Given the description of an element on the screen output the (x, y) to click on. 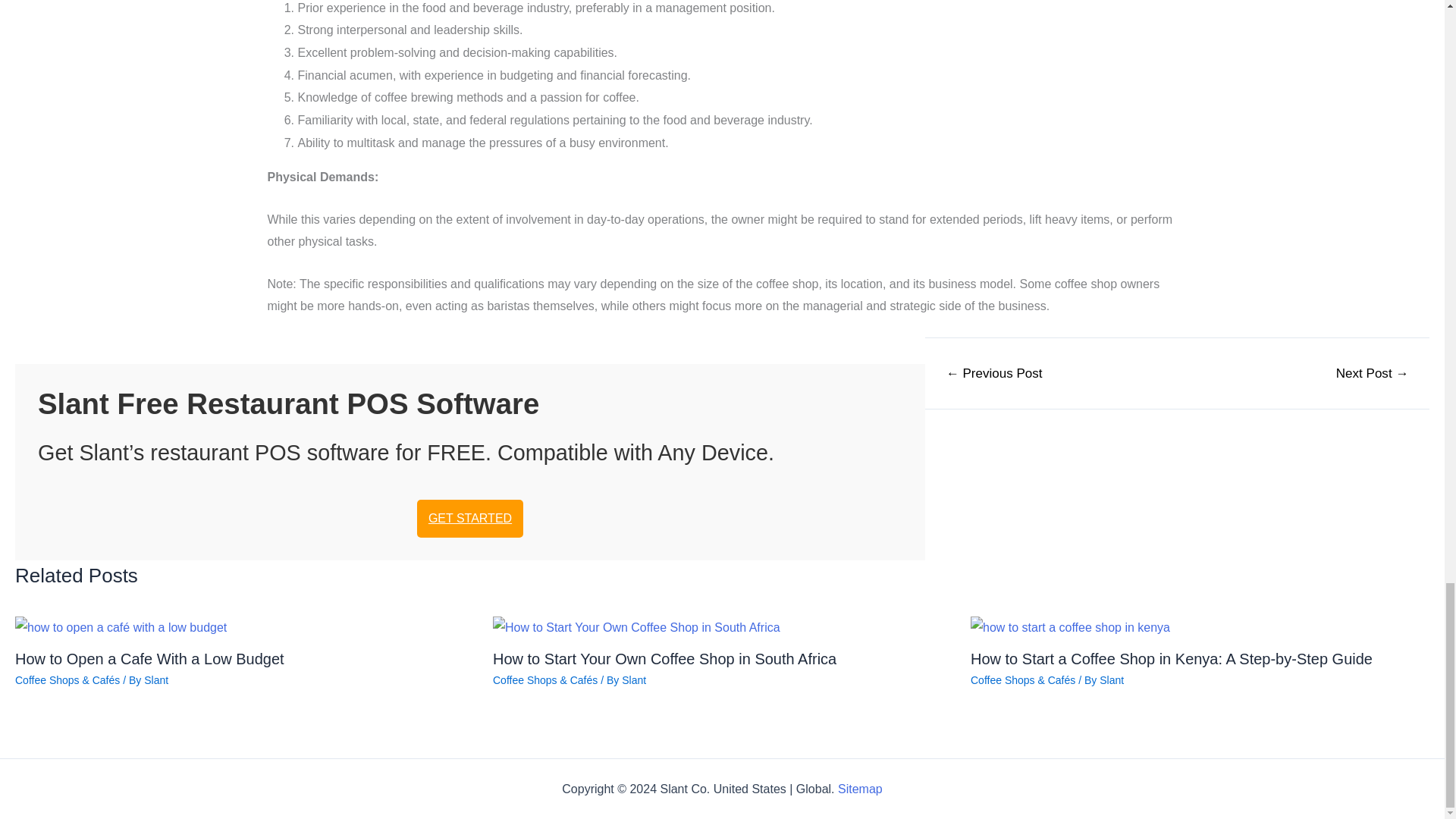
View all posts by Slant (156, 680)
View all posts by Slant (633, 680)
Slant (633, 680)
Slant (156, 680)
Slant (1111, 680)
Sitemap (860, 788)
How to Open a Cafe With a Low Budget (148, 658)
How to Start Your Own Coffee Shop in South Africa (664, 658)
View all posts by Slant (1111, 680)
GET STARTED (469, 518)
